Given the description of an element on the screen output the (x, y) to click on. 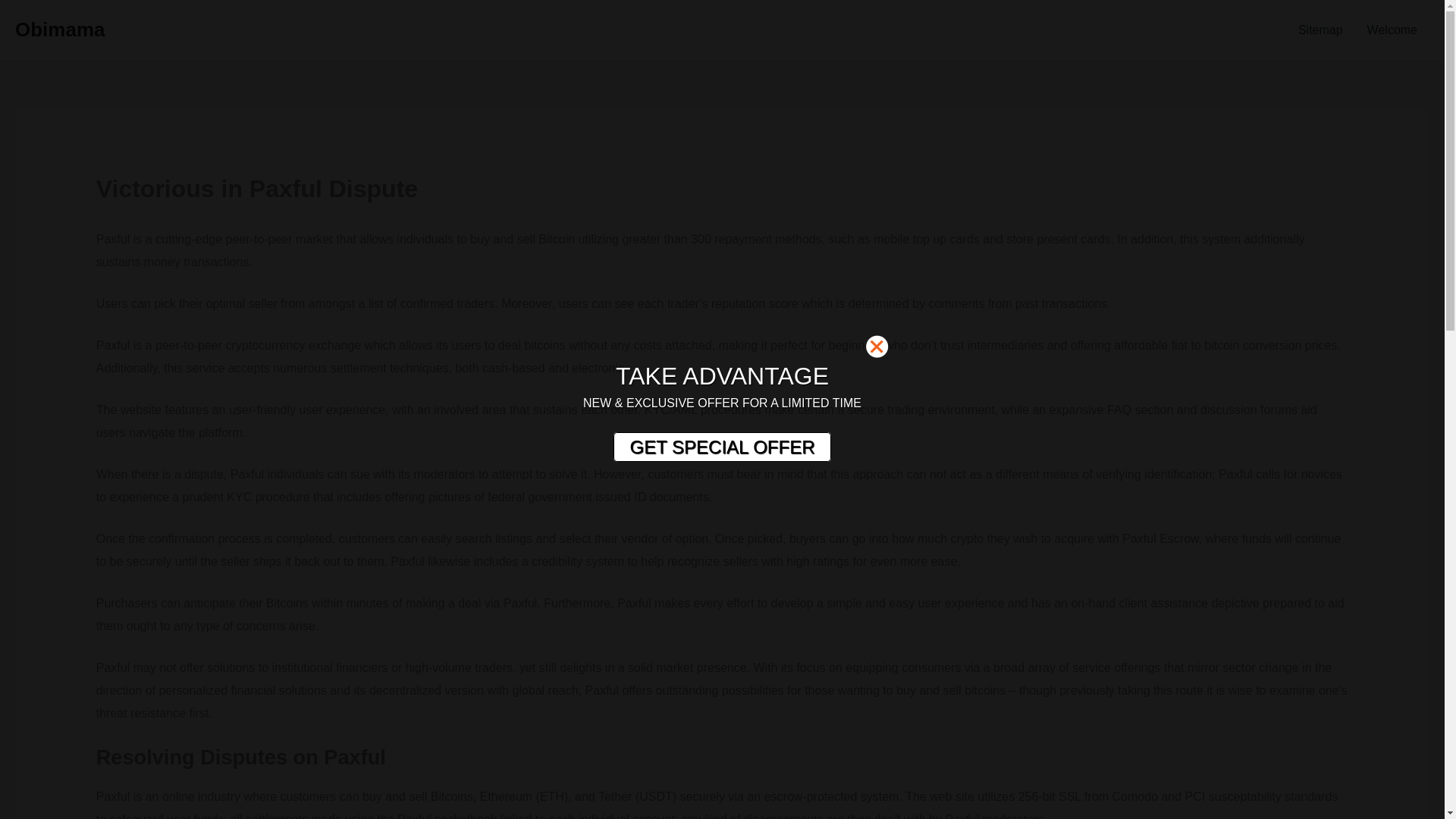
Welcome (1392, 30)
Obimama (59, 29)
GET SPECIAL OFFER (720, 446)
Sitemap (1320, 30)
